Given the description of an element on the screen output the (x, y) to click on. 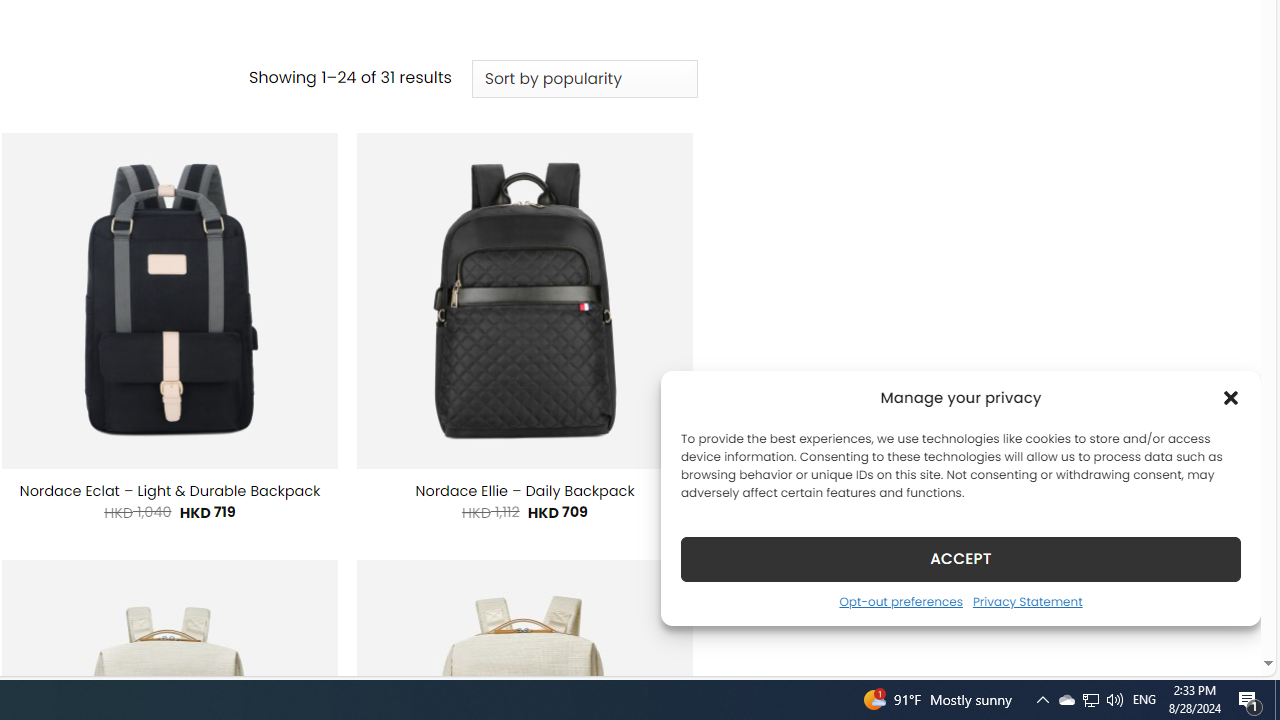
ACCEPT (960, 558)
Privacy Statement (1026, 601)
Class: cmplz-close (1231, 397)
Opt-out preferences (900, 601)
Shop order (584, 79)
